Given the description of an element on the screen output the (x, y) to click on. 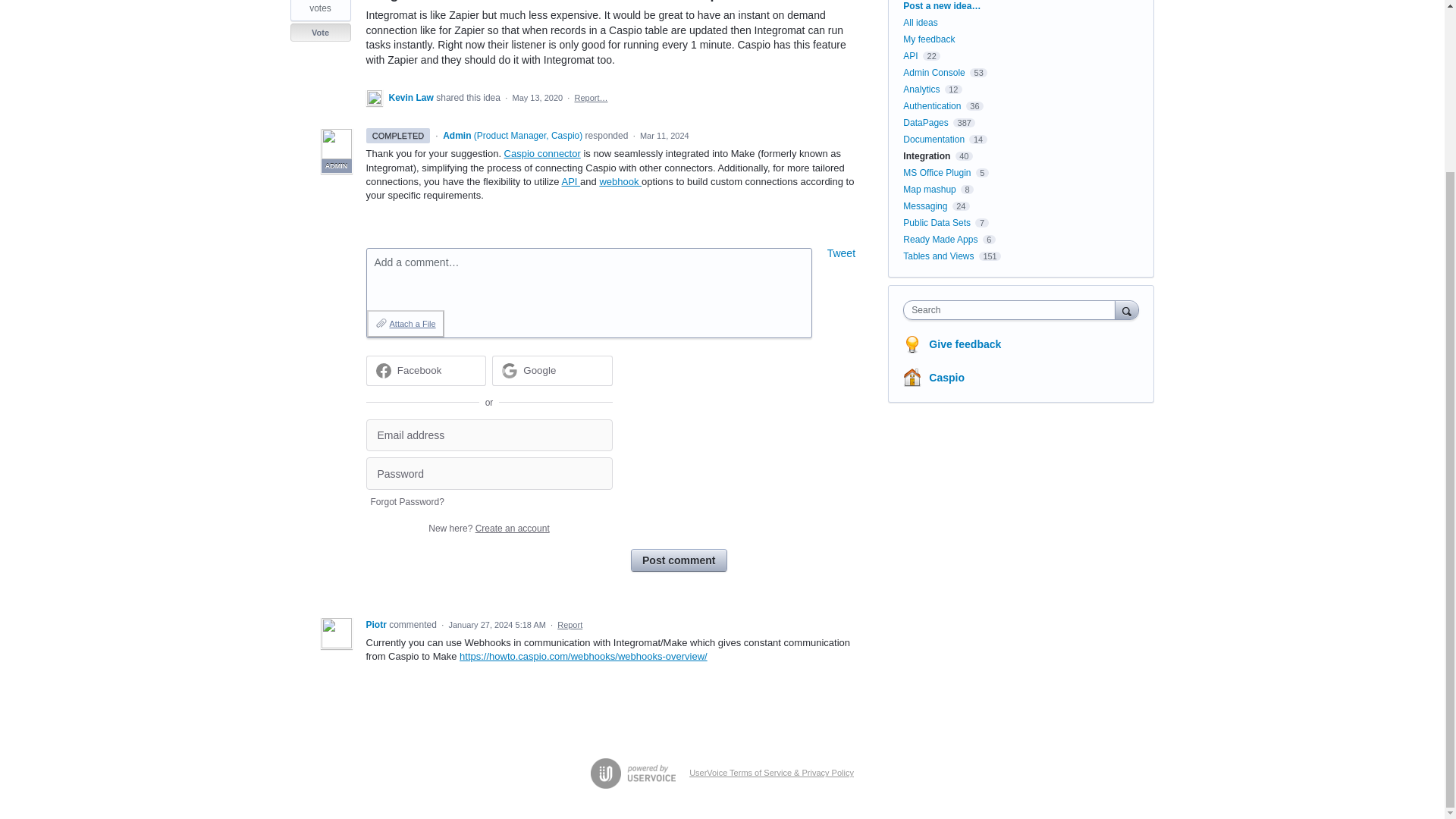
Kevin Law (411, 97)
Google sign in (552, 370)
Tweet (841, 253)
Idea has been closed (319, 32)
Post comment (678, 559)
Caspio connector (541, 153)
This idea is completed - updated 4 months ago (397, 135)
Forgot Password? (406, 501)
Google (539, 369)
Attach a File (405, 323)
Facebook (419, 369)
webhook (620, 181)
Facebook (425, 370)
API (569, 181)
Vote (319, 32)
